Given the description of an element on the screen output the (x, y) to click on. 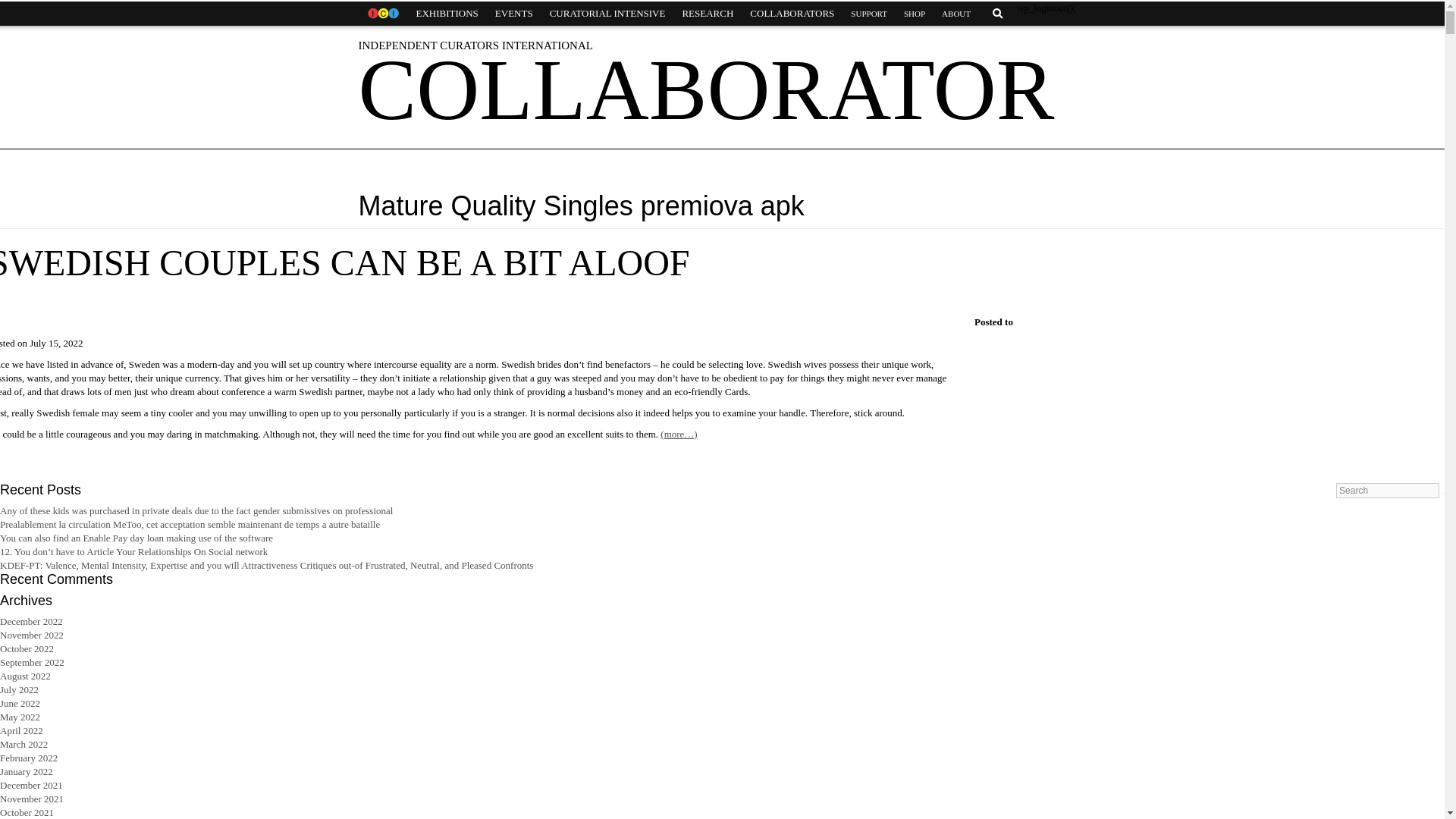
EVENTS (513, 13)
EXHIBITIONS (446, 13)
HOME (382, 13)
RESEARCH (706, 13)
CURATORIAL INTENSIVE (607, 13)
COLLABORATORS (792, 13)
